Given the description of an element on the screen output the (x, y) to click on. 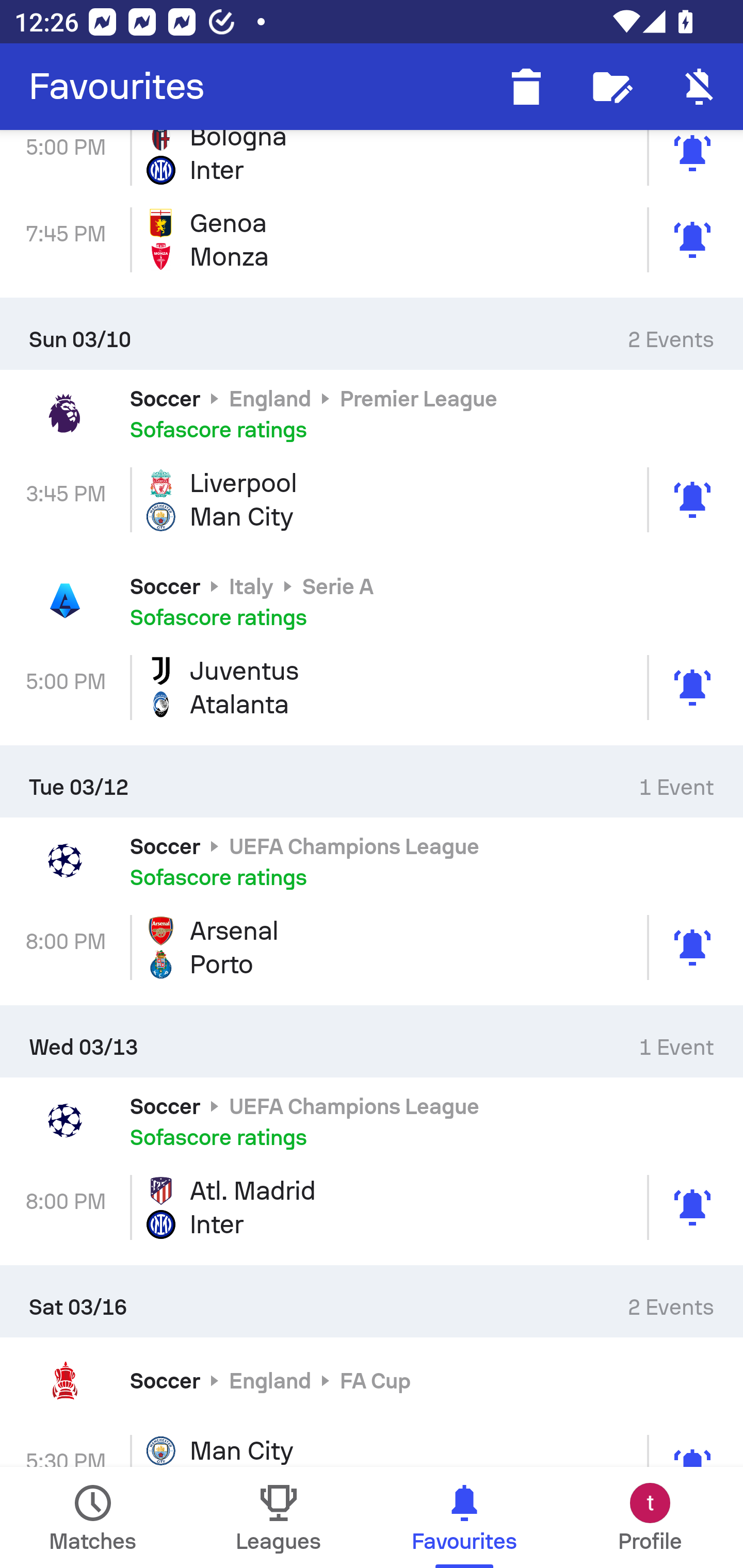
Favourites (116, 86)
Delete finished (525, 86)
Follow editor (612, 86)
Enable notifications (699, 86)
5:00 PM Bologna Inter (371, 163)
7:45 PM Genoa Monza (371, 239)
Sun 03/10 2 Events (371, 333)
Soccer England Premier League Sofascore ratings (371, 413)
3:45 PM Liverpool Man City (371, 499)
Soccer Italy Serie A Sofascore ratings (371, 601)
5:00 PM Juventus Atalanta (371, 687)
Tue 03/12 1 Event (371, 780)
Soccer UEFA Champions League Sofascore ratings (371, 860)
8:00 PM Arsenal Porto (371, 947)
Wed 03/13 1 Event (371, 1041)
Soccer UEFA Champions League Sofascore ratings (371, 1120)
8:00 PM Atl. Madrid Inter (371, 1207)
Sat 03/16 2 Events (371, 1301)
Soccer England FA Cup (371, 1380)
Matches (92, 1517)
Leagues (278, 1517)
Profile (650, 1517)
